Given the description of an element on the screen output the (x, y) to click on. 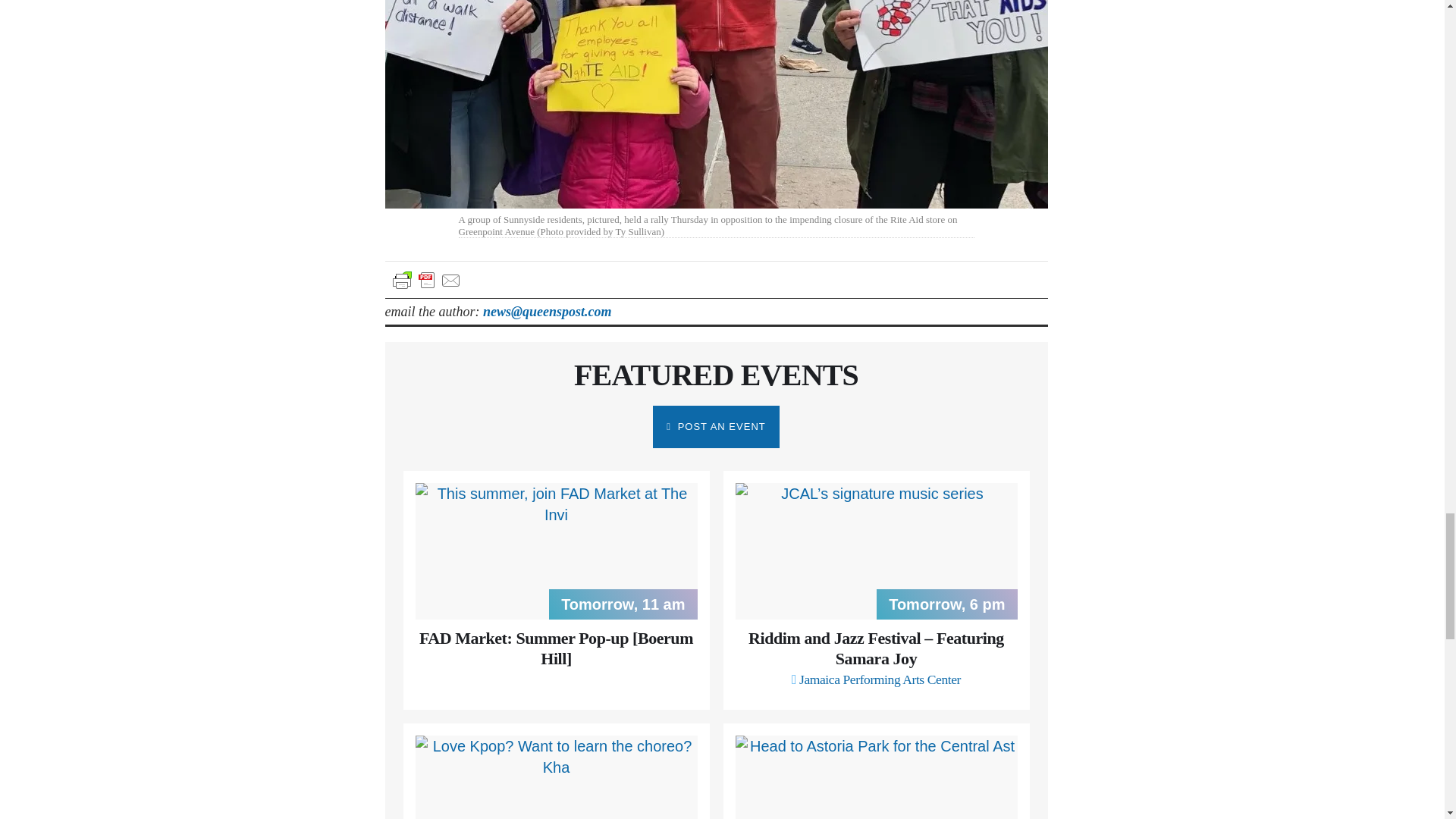
POST AN EVENT (715, 426)
FEATURED EVENTS (716, 374)
